Given the description of an element on the screen output the (x, y) to click on. 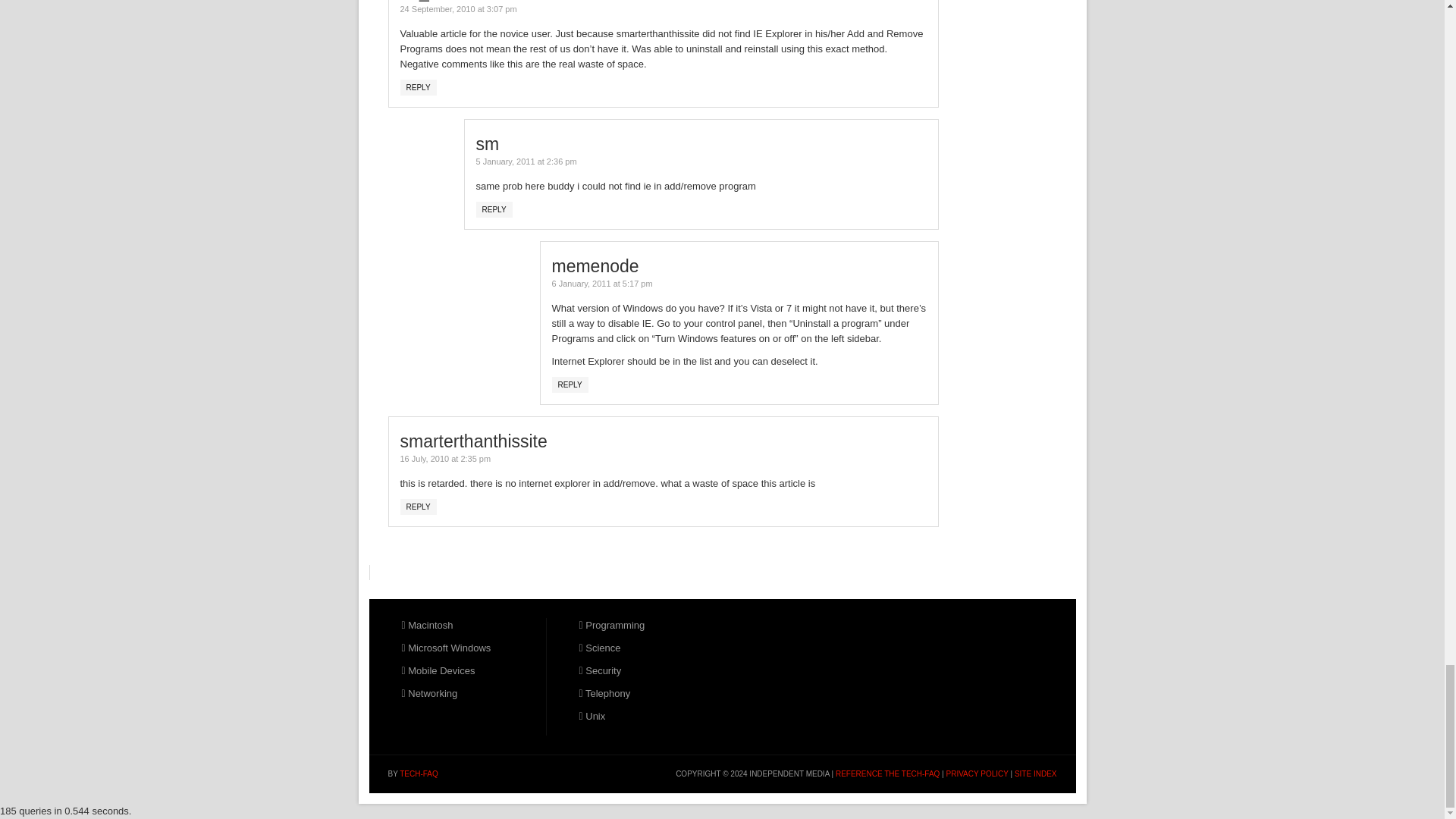
Networking (429, 693)
Macintosh (426, 624)
Microsoft Windows (446, 647)
REPLY (418, 506)
REPLY (418, 87)
REPLY (494, 209)
REPLY (569, 384)
Mobile Devices (438, 670)
